Given the description of an element on the screen output the (x, y) to click on. 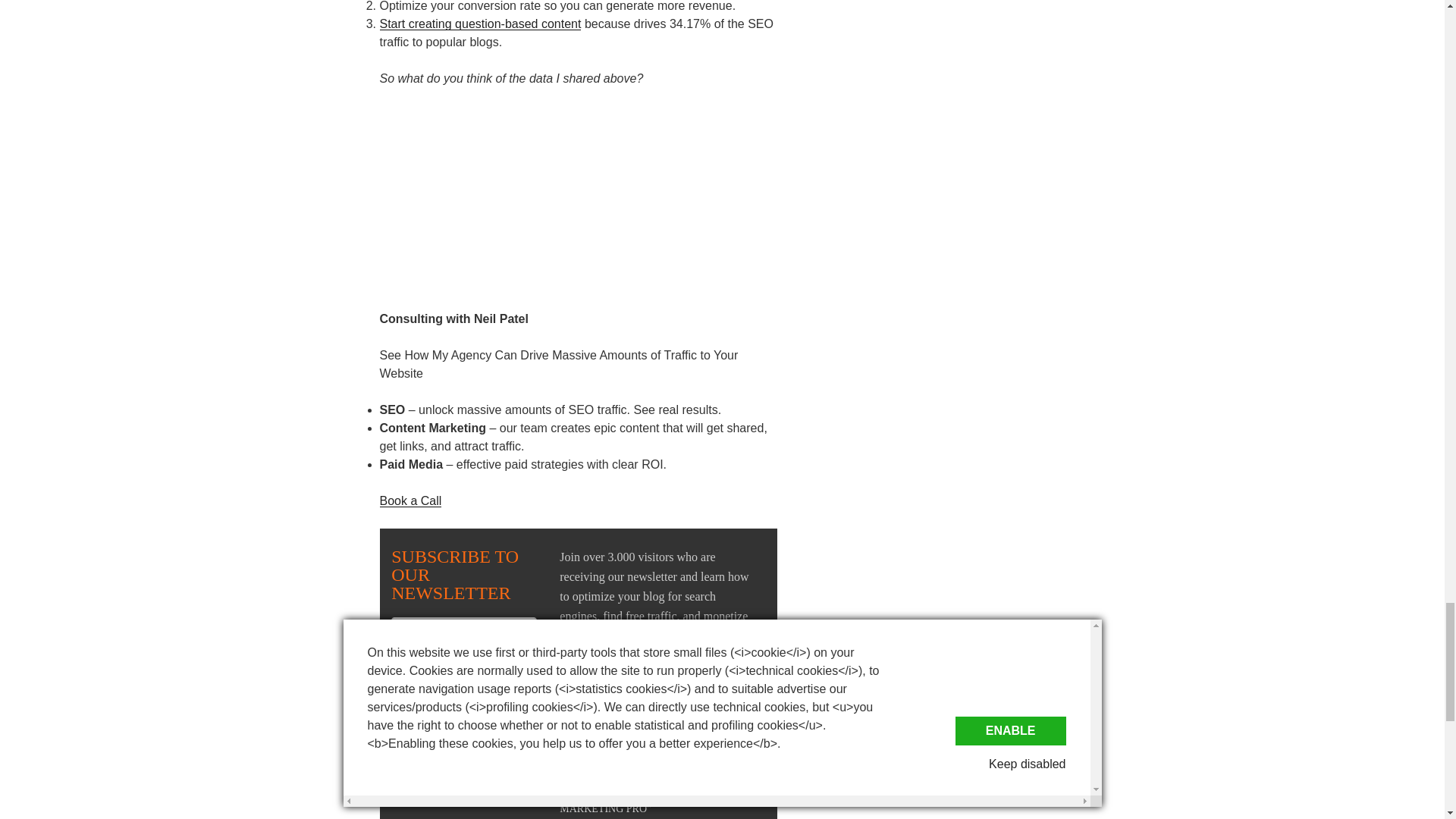
SUBSCRIBE NOW (464, 697)
on (396, 720)
